Given the description of an element on the screen output the (x, y) to click on. 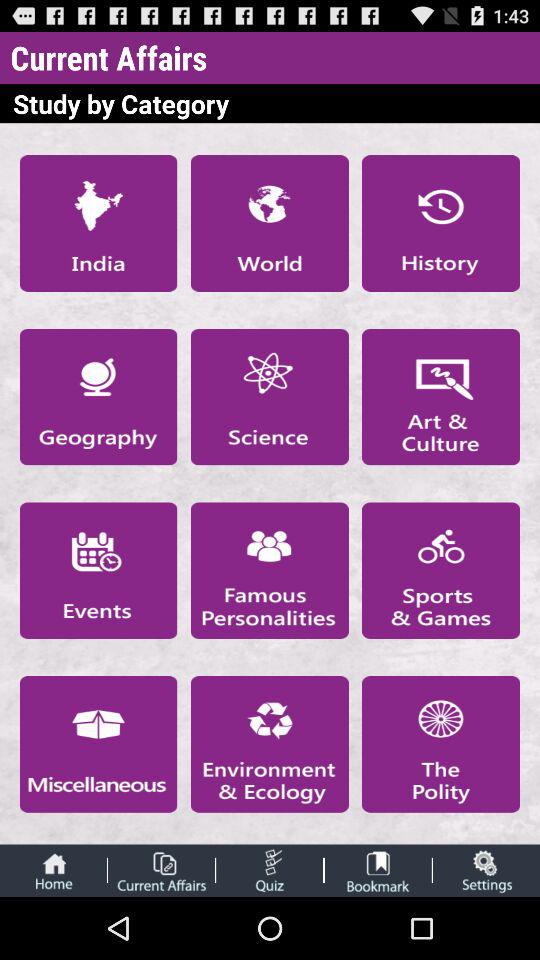
sport games (441, 570)
